Given the description of an element on the screen output the (x, y) to click on. 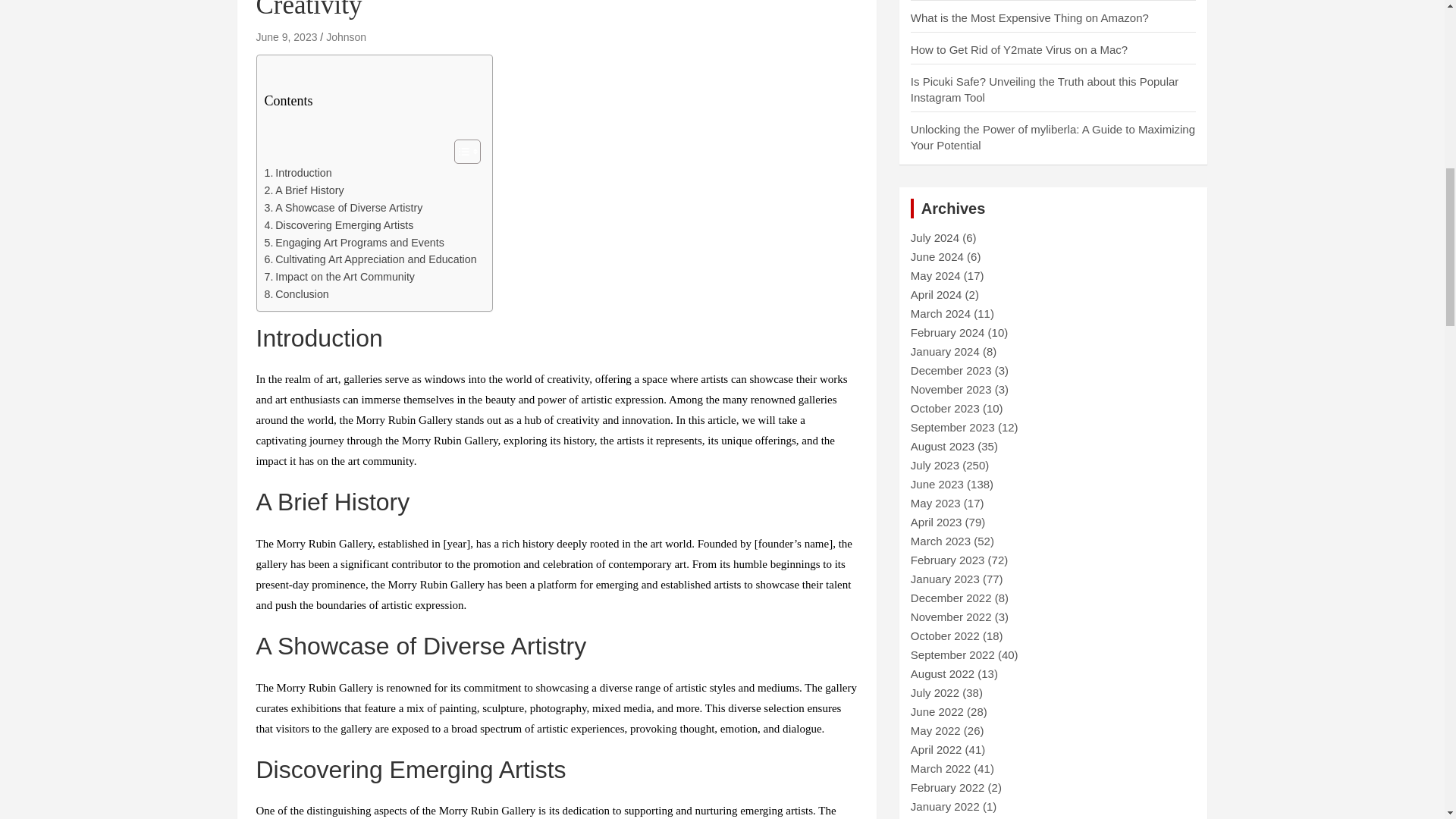
A Brief History (303, 190)
A Showcase of Diverse Artistry (342, 208)
Cultivating Art Appreciation and Education (369, 259)
Impact on the Art Community (338, 276)
Morry Rubin Gallery: A Journey through Art and Creativity (286, 37)
June 9, 2023 (286, 37)
Engaging Art Programs and Events (353, 242)
Discovering Emerging Artists (338, 225)
Discovering Emerging Artists (338, 225)
A Showcase of Diverse Artistry (342, 208)
Introduction (297, 172)
Conclusion (296, 294)
Introduction (297, 172)
Cultivating Art Appreciation and Education (369, 259)
Engaging Art Programs and Events (353, 242)
